Given the description of an element on the screen output the (x, y) to click on. 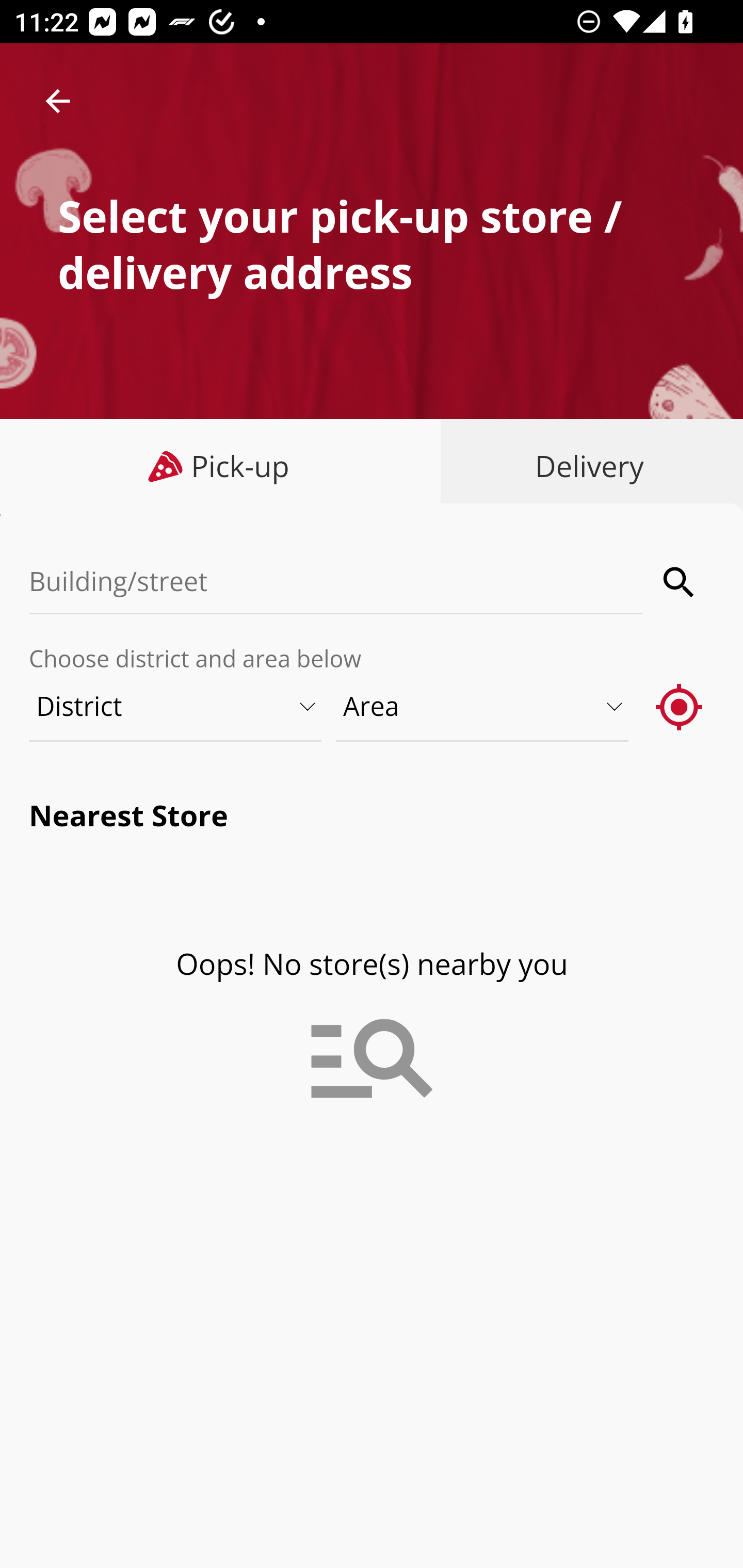
arrow_back (58, 100)
Pick-up (221, 466)
Delivery (585, 466)
search (679, 582)
gps_fixed (679, 706)
District (175, 706)
Area (482, 706)
